Given the description of an element on the screen output the (x, y) to click on. 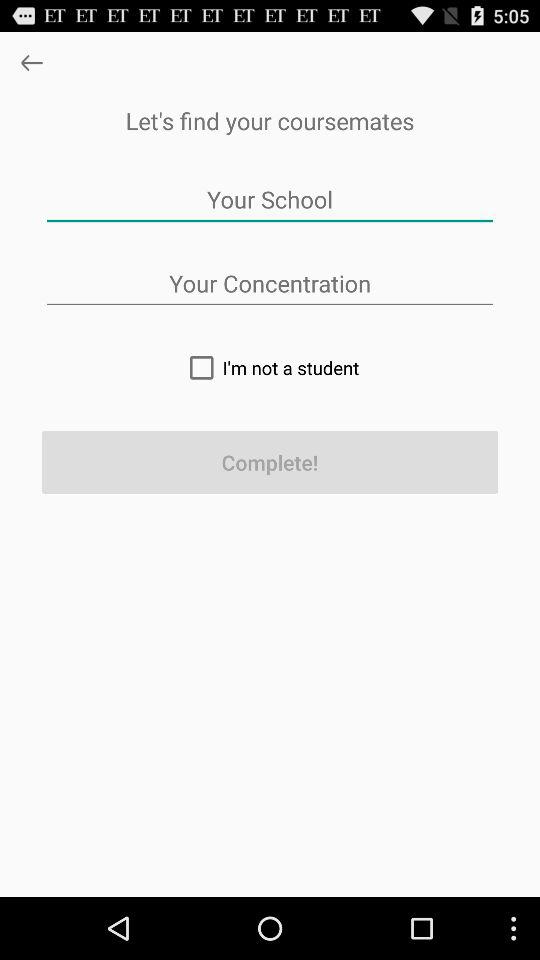
open checkbox below i m not (269, 461)
